Given the description of an element on the screen output the (x, y) to click on. 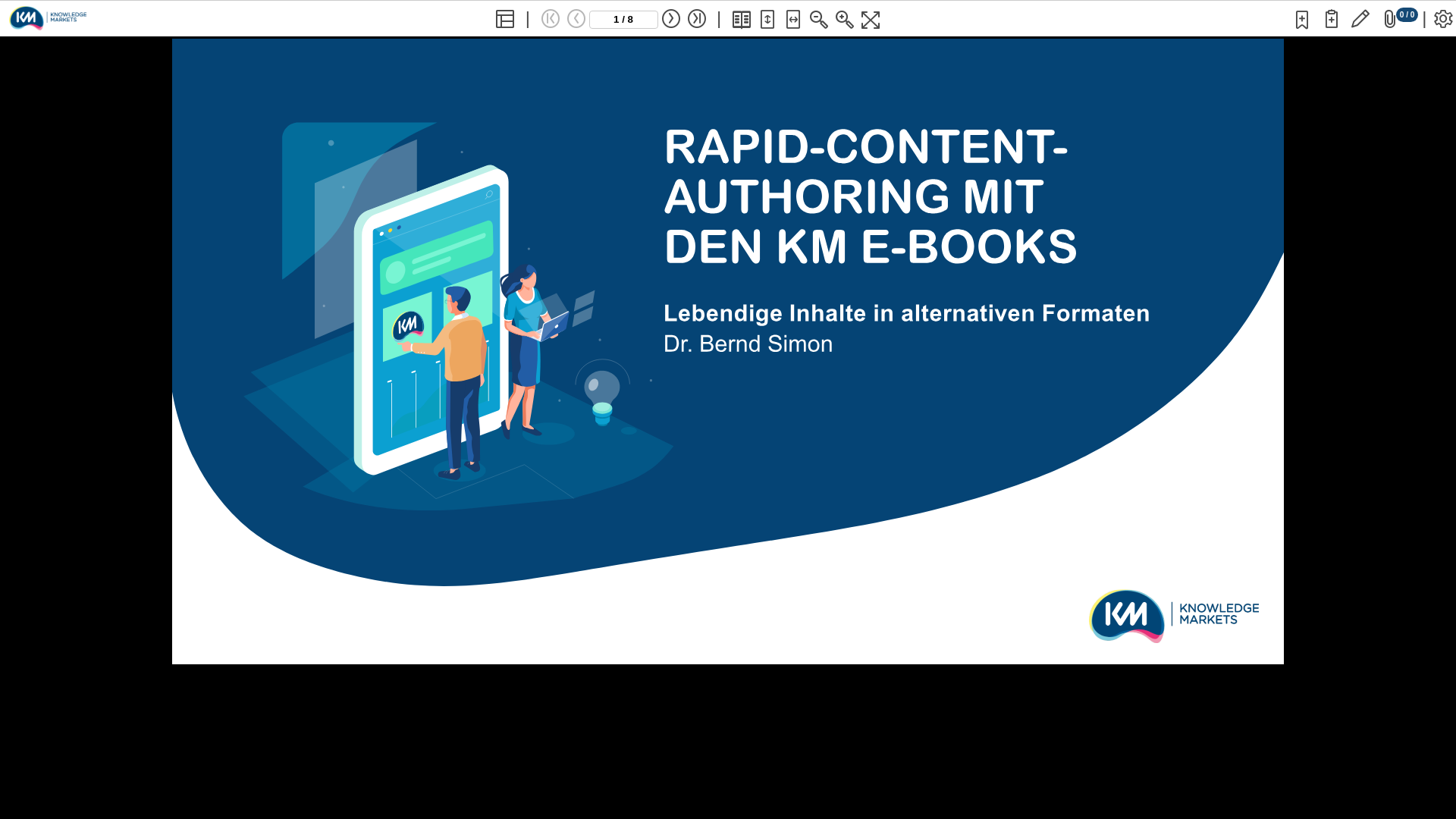
Hineinzoomen Element type: hover (844, 19)
Lernressourcen Element type: hover (1389, 18)
Notizen Element type: hover (1331, 18)
Erste Seite Element type: hover (550, 18)
Hinauszoomen Element type: hover (818, 19)
Markieren und anmerken Element type: hover (1360, 18)
Vollbildmodus Element type: hover (870, 20)
Lesezeichen Element type: hover (1301, 20)
Letzte Seite Element type: hover (696, 18)
Seite Element type: hover (622, 19)
Einstellungen Element type: hover (1443, 18)
Navigation und Suche Element type: hover (504, 19)
Seite an Breite anpassen Element type: hover (793, 19)
Vorherige Seite Element type: hover (576, 18)
